Given the description of an element on the screen output the (x, y) to click on. 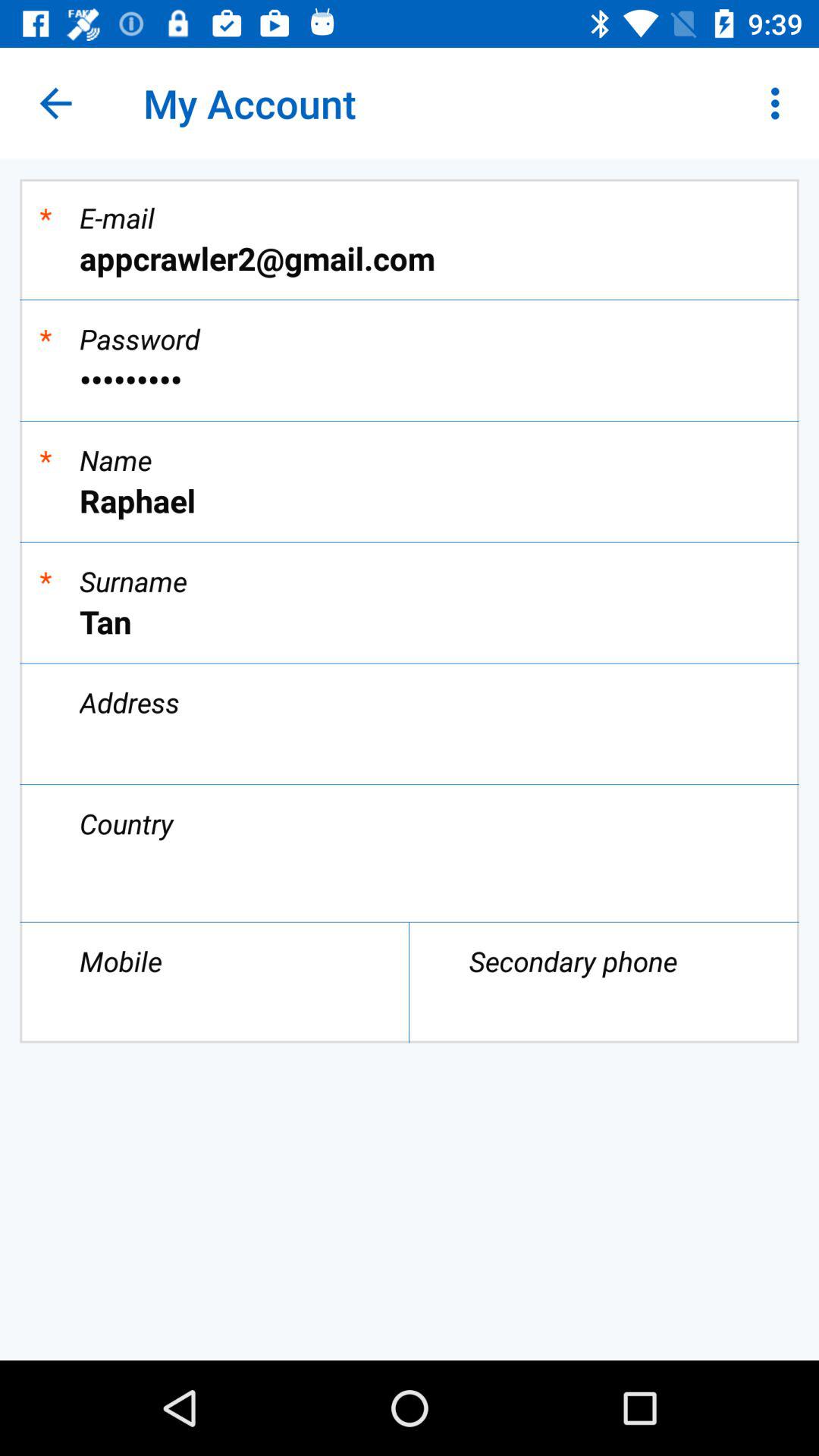
click the icon above appcrawler2@gmail.com (779, 103)
